Given the description of an element on the screen output the (x, y) to click on. 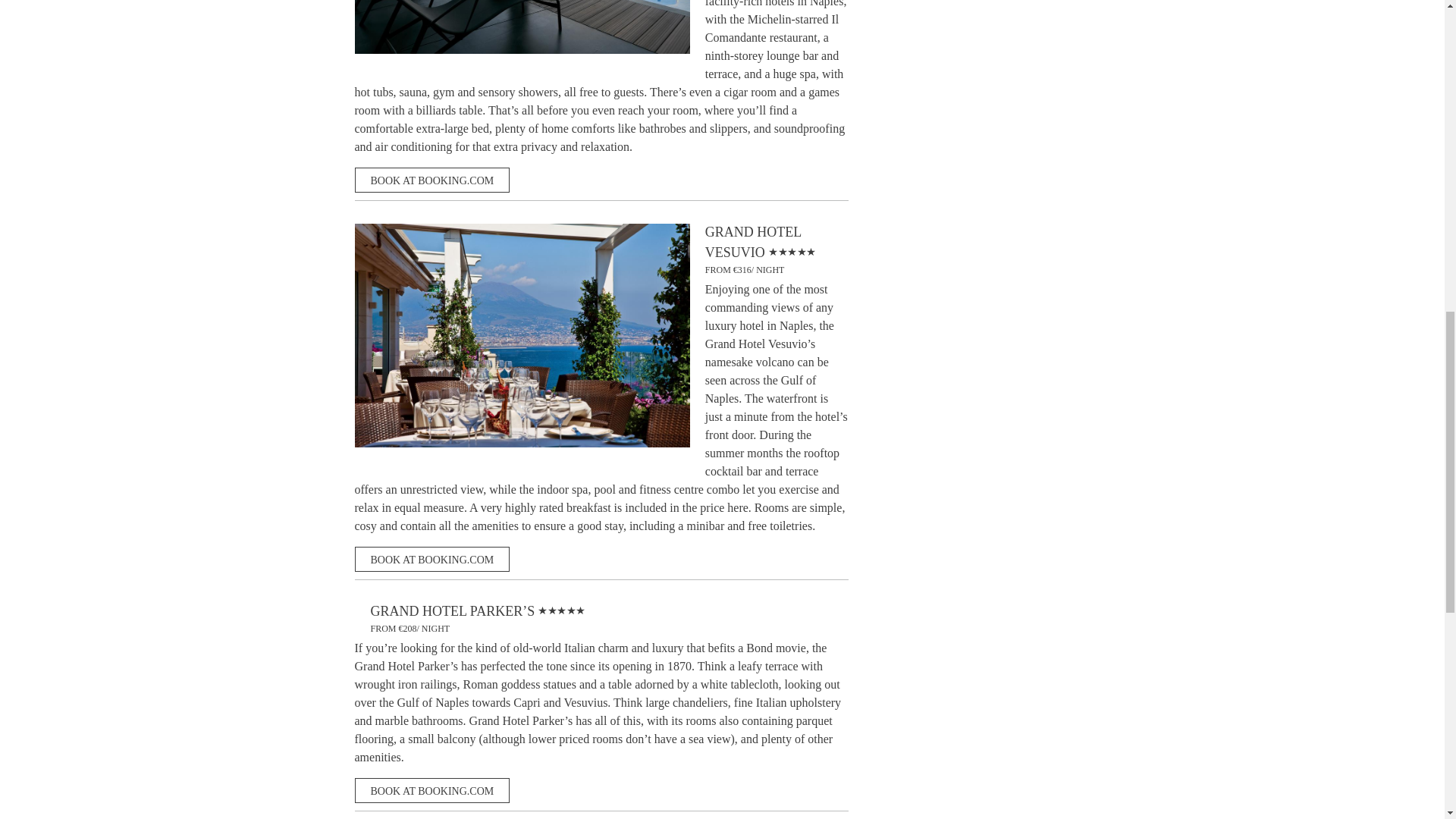
BOOK AT BOOKING.COM (433, 179)
BOOK AT BOOKING.COM (433, 790)
BOOK AT BOOKING.COM (433, 559)
